Given the description of an element on the screen output the (x, y) to click on. 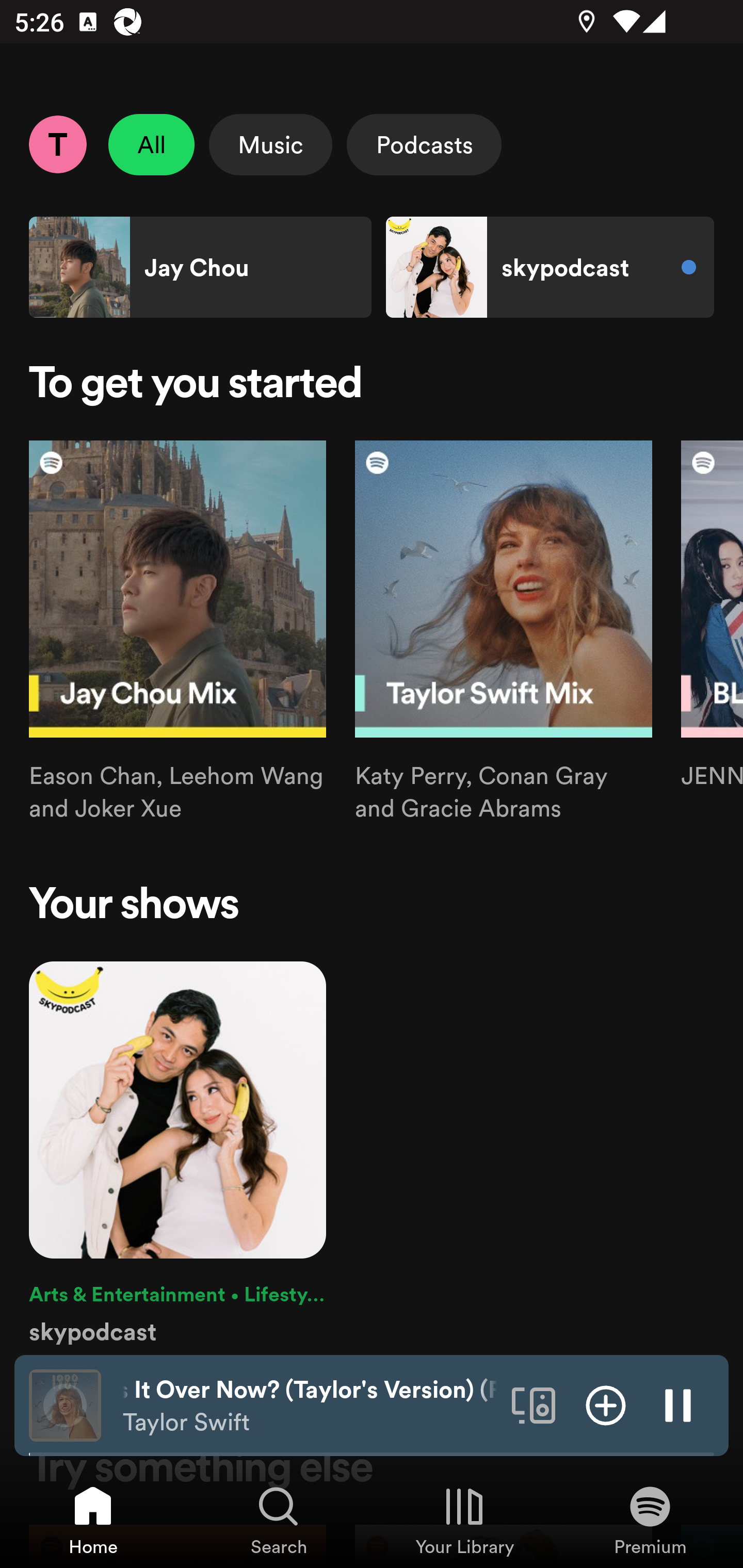
Profile (57, 144)
All Unselect All (151, 144)
Music Select Music (270, 144)
Podcasts Select Podcasts (423, 144)
Jay Chou Shortcut Jay Chou (199, 267)
skypodcast Shortcut skypodcast New content (549, 267)
The cover art of the currently playing track (64, 1404)
Connect to a device. Opens the devices menu (533, 1404)
Add item (605, 1404)
Pause (677, 1404)
Home, Tab 1 of 4 Home Home (92, 1519)
Search, Tab 2 of 4 Search Search (278, 1519)
Your Library, Tab 3 of 4 Your Library Your Library (464, 1519)
Premium, Tab 4 of 4 Premium Premium (650, 1519)
